Given the description of an element on the screen output the (x, y) to click on. 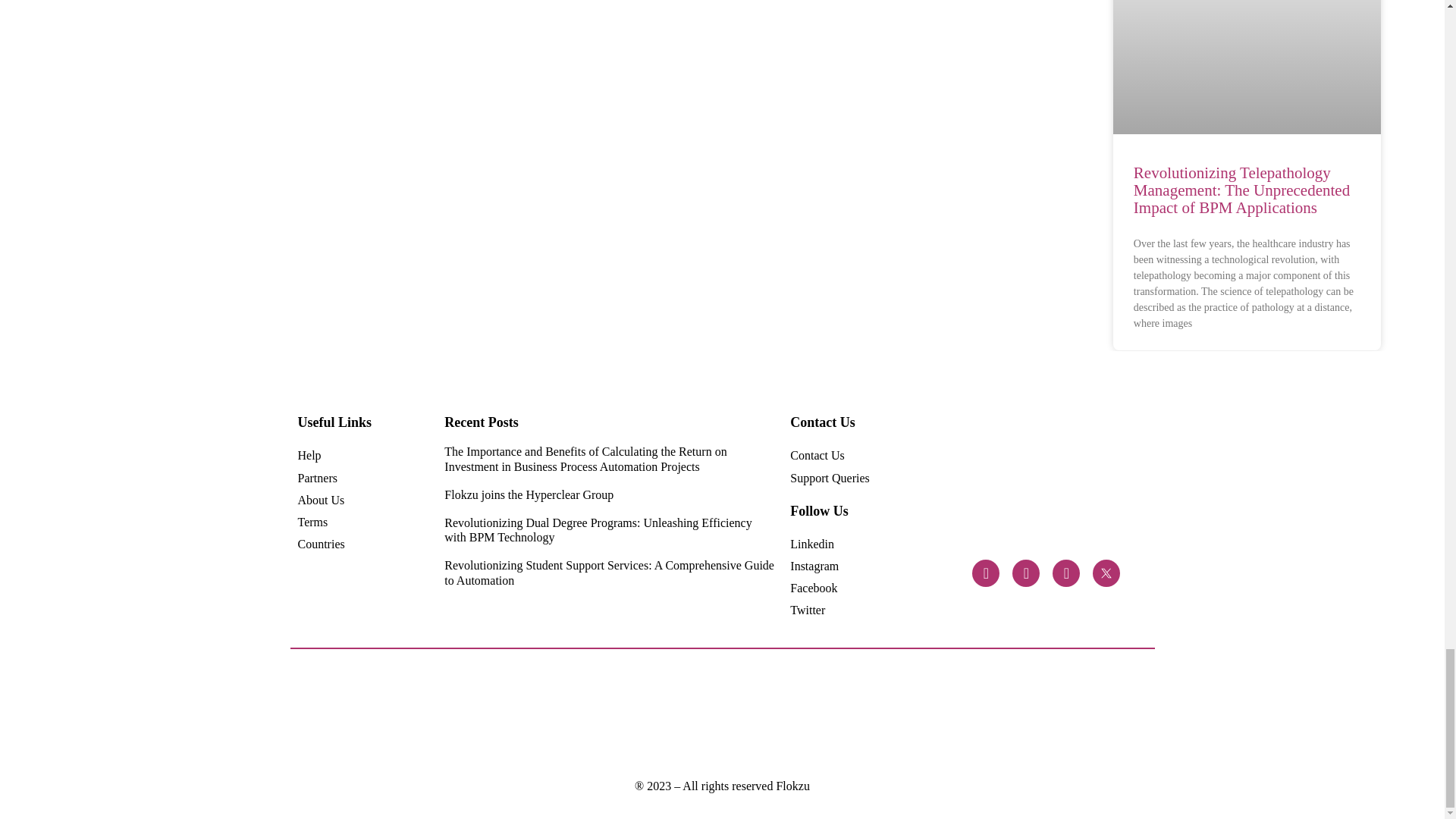
category leaders 2024 (430, 714)
Top Performer Flokzu 2024-1 (688, 714)
frontrunner 2024 (494, 714)
getapp best functionality and features-footer (1010, 714)
good firms top bpm-footer (945, 715)
Top Performer Flokzu 2024-2 (559, 714)
